Given the description of an element on the screen output the (x, y) to click on. 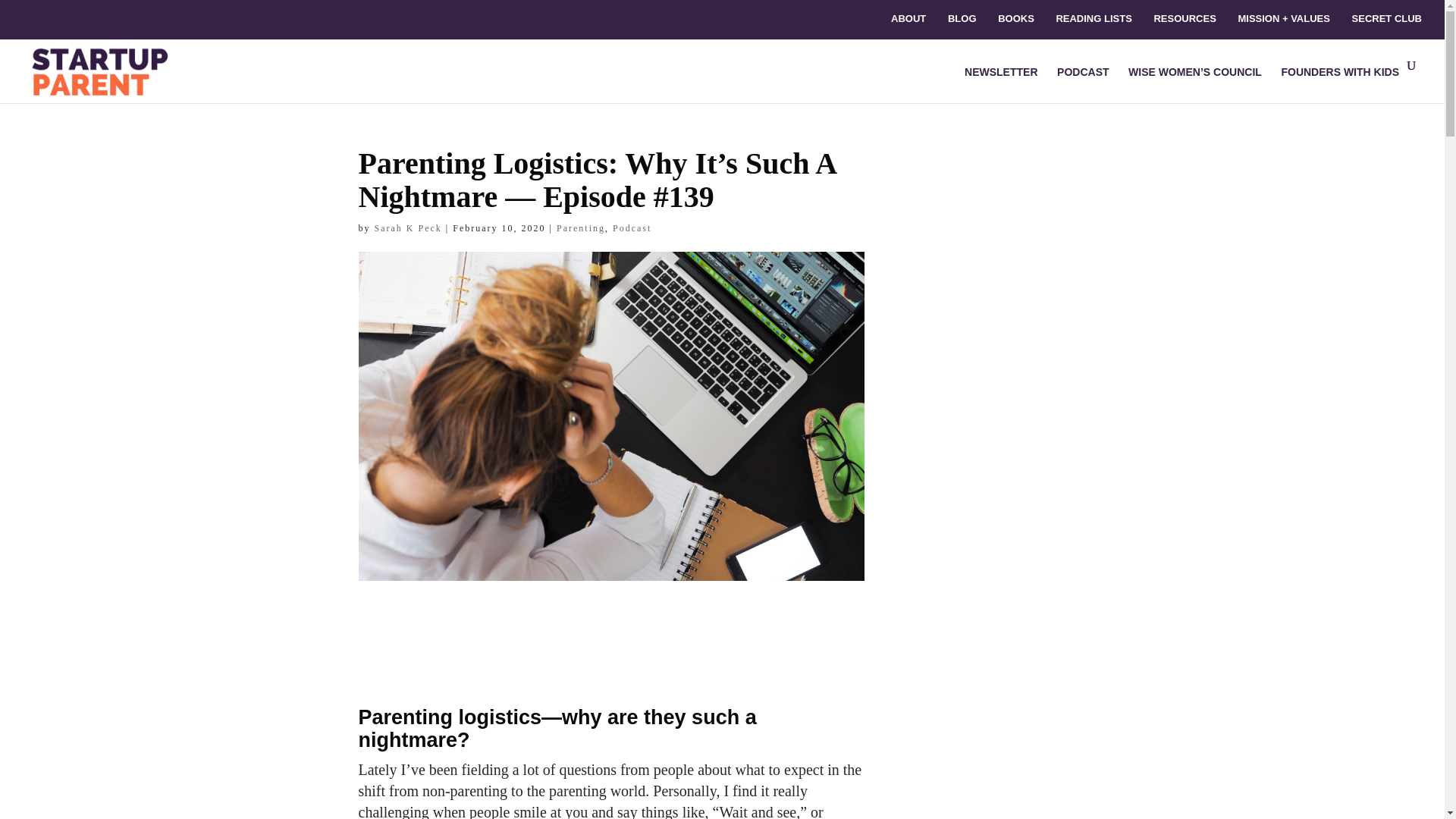
RESOURCES (1184, 22)
Podcast (631, 227)
ABOUT (908, 22)
Sarah K Peck (408, 227)
NEWSLETTER (999, 81)
BLOG (961, 22)
Posts by Sarah K Peck (408, 227)
READING LISTS (1093, 22)
SECRET CLUB (1387, 22)
BOOKS (1015, 22)
Parenting (580, 227)
FOUNDERS WITH KIDS (1340, 81)
PODCAST (1082, 78)
